Given the description of an element on the screen output the (x, y) to click on. 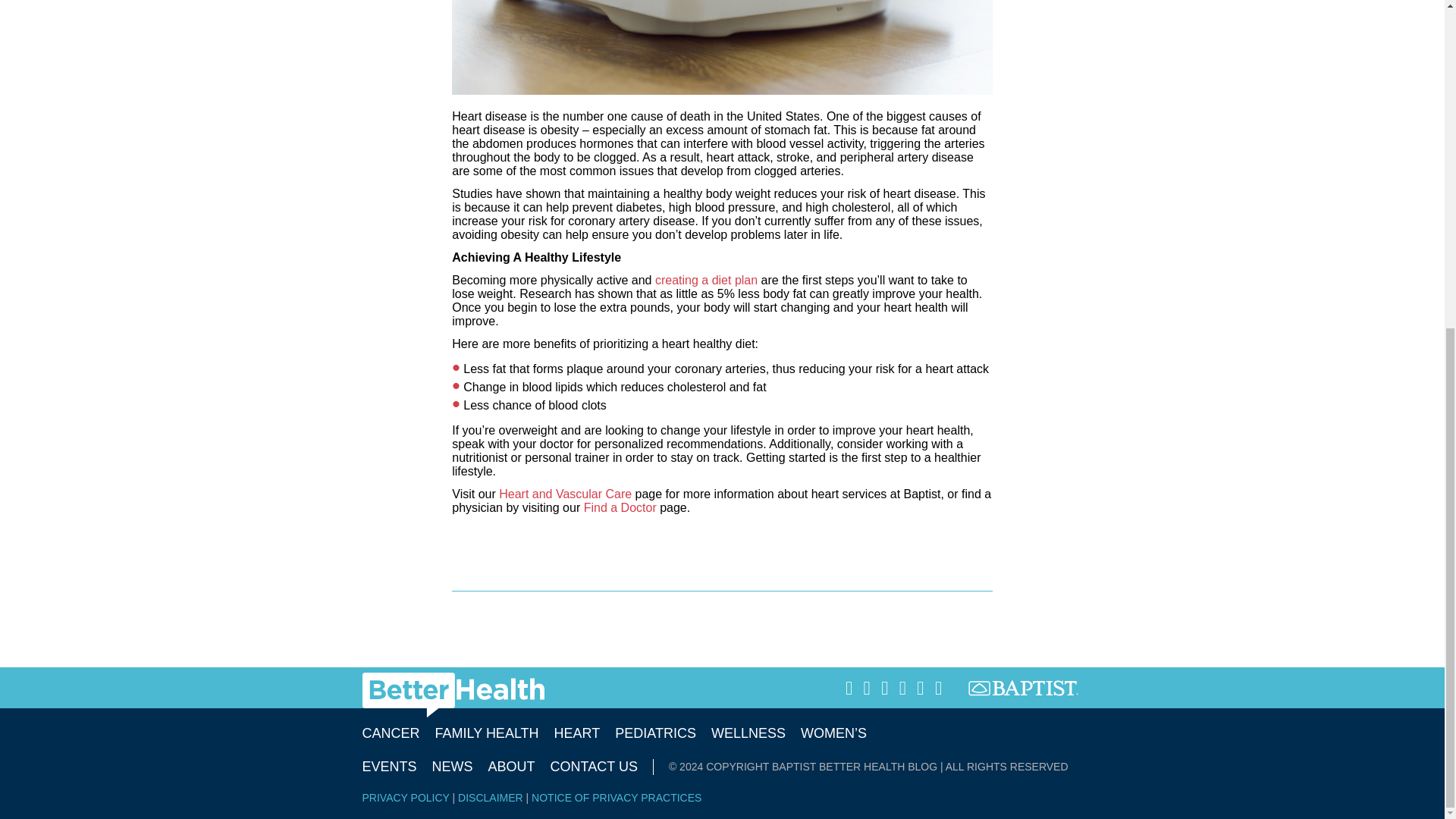
creating a diet plan (706, 279)
Heart and Vascular Care (565, 493)
Find a Doctor (619, 507)
